Given the description of an element on the screen output the (x, y) to click on. 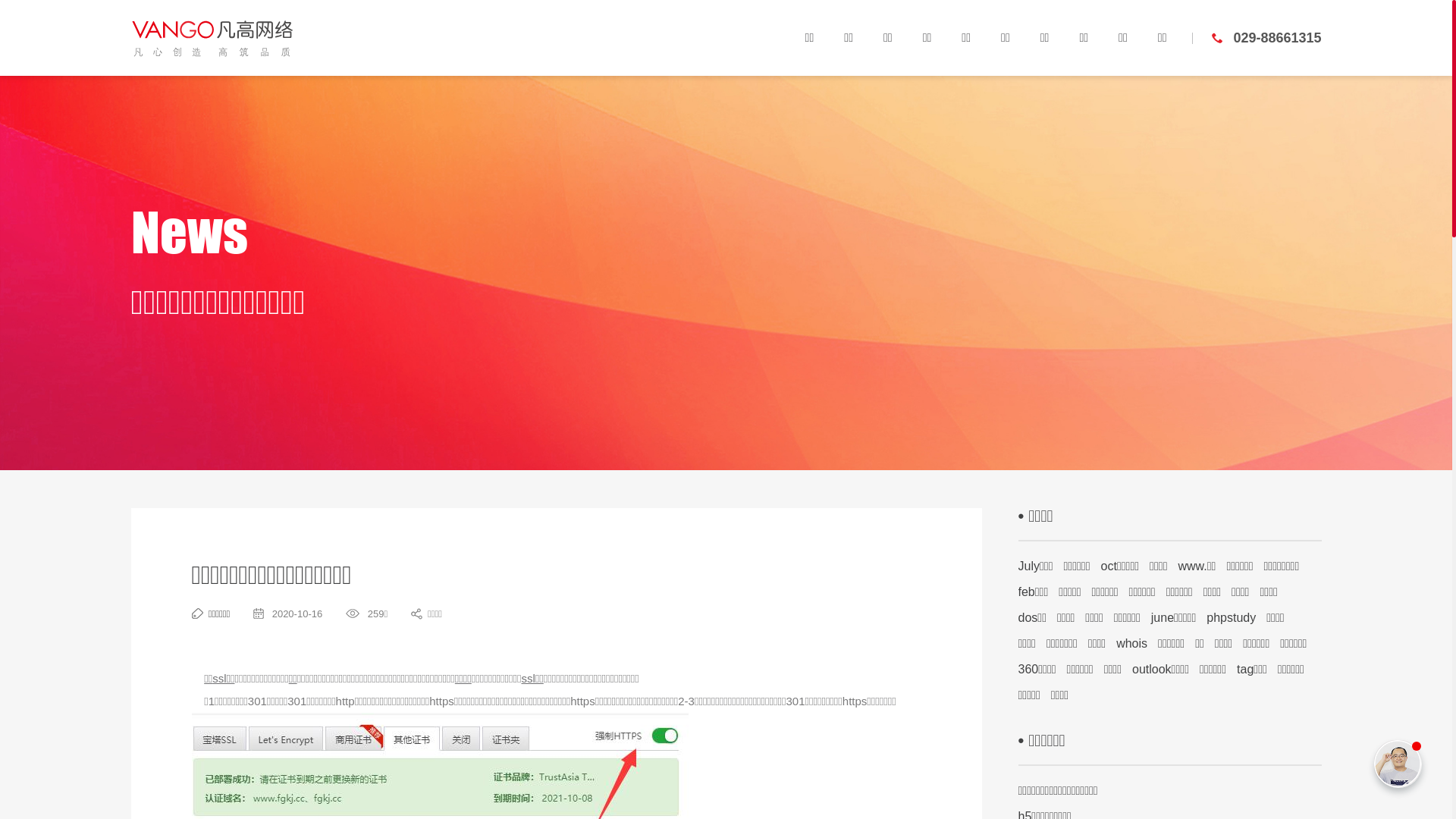
phpstudy Element type: text (1230, 617)
whois Element type: text (1131, 643)
